Given the description of an element on the screen output the (x, y) to click on. 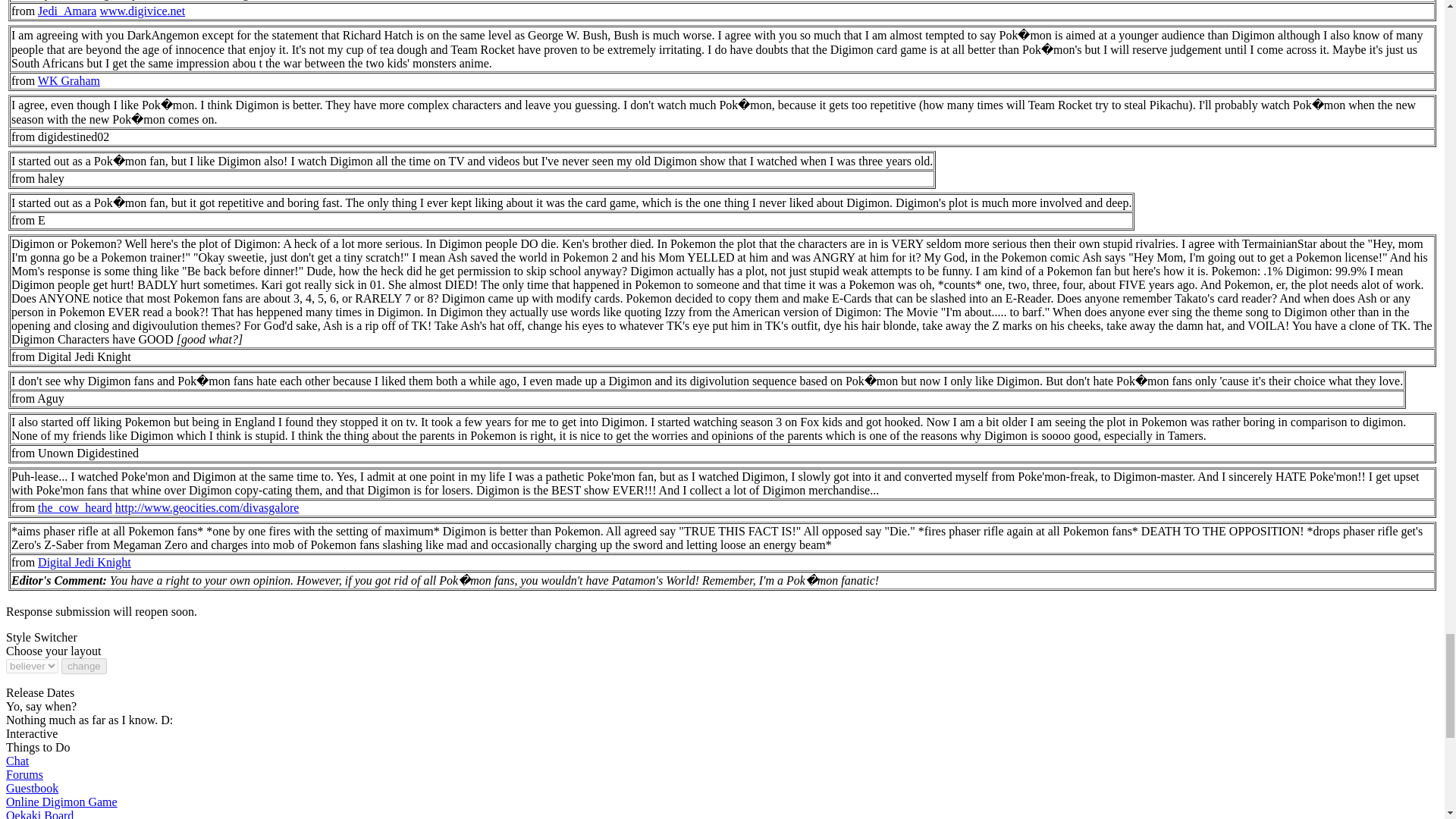
change (83, 666)
